Given the description of an element on the screen output the (x, y) to click on. 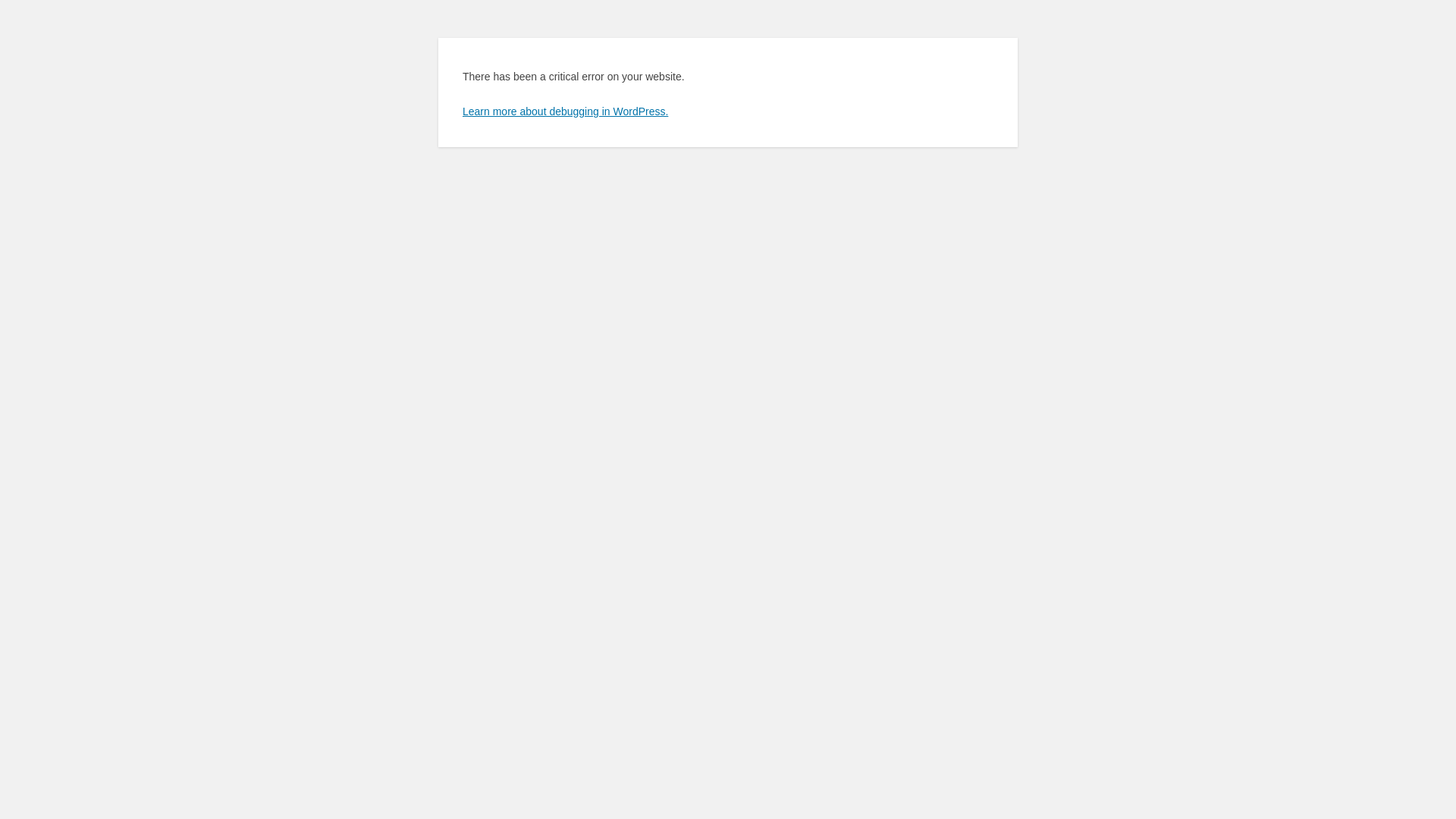
Learn more about debugging in WordPress. Element type: text (565, 111)
